Given the description of an element on the screen output the (x, y) to click on. 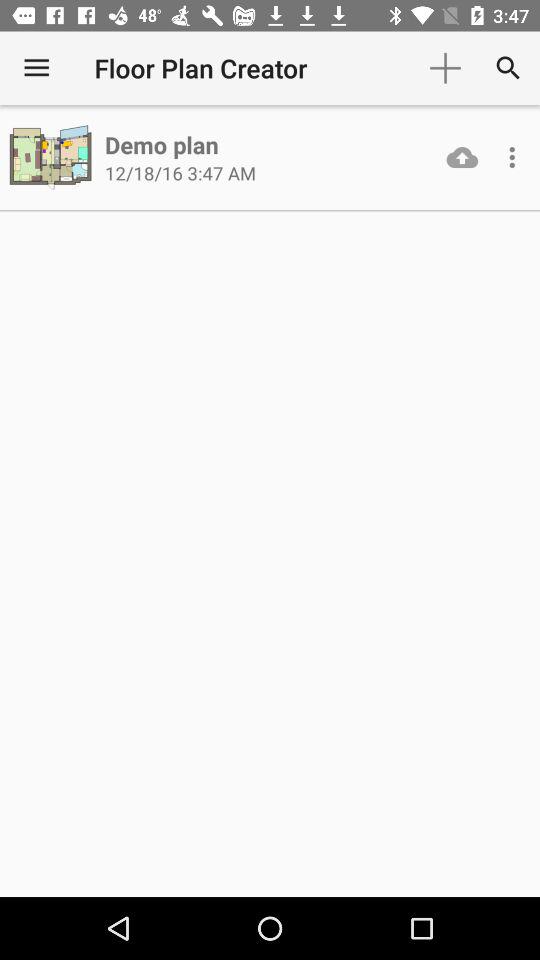
click the item next to floor plan creator icon (36, 68)
